Given the description of an element on the screen output the (x, y) to click on. 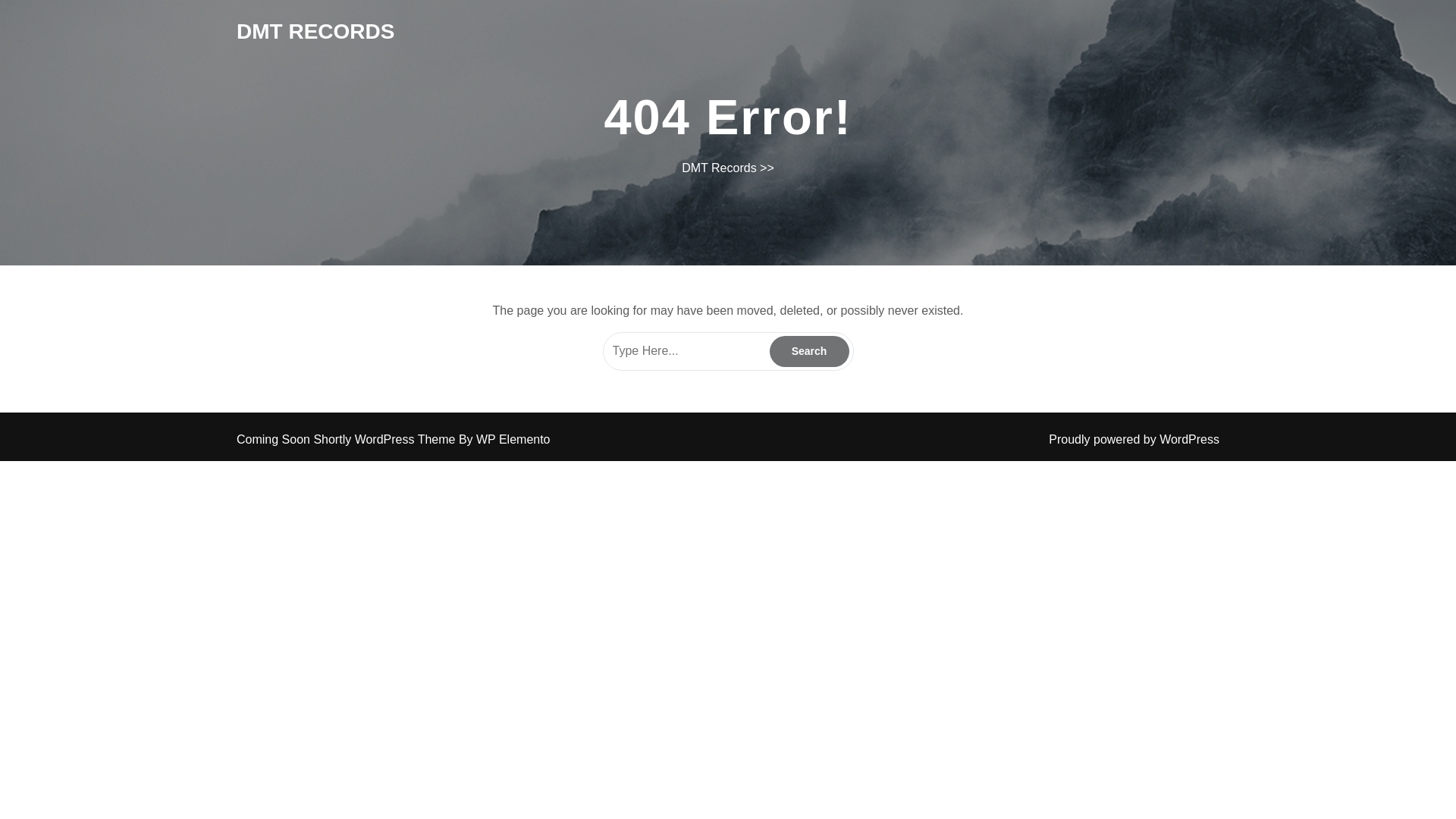
DMT Records (718, 167)
Search (808, 350)
Search (808, 350)
DMT RECORDS (314, 31)
DMT Records (314, 31)
Search (808, 350)
Coming Soon Shortly WordPress Theme (346, 439)
Proudly powered by WordPress (1134, 439)
